Given the description of an element on the screen output the (x, y) to click on. 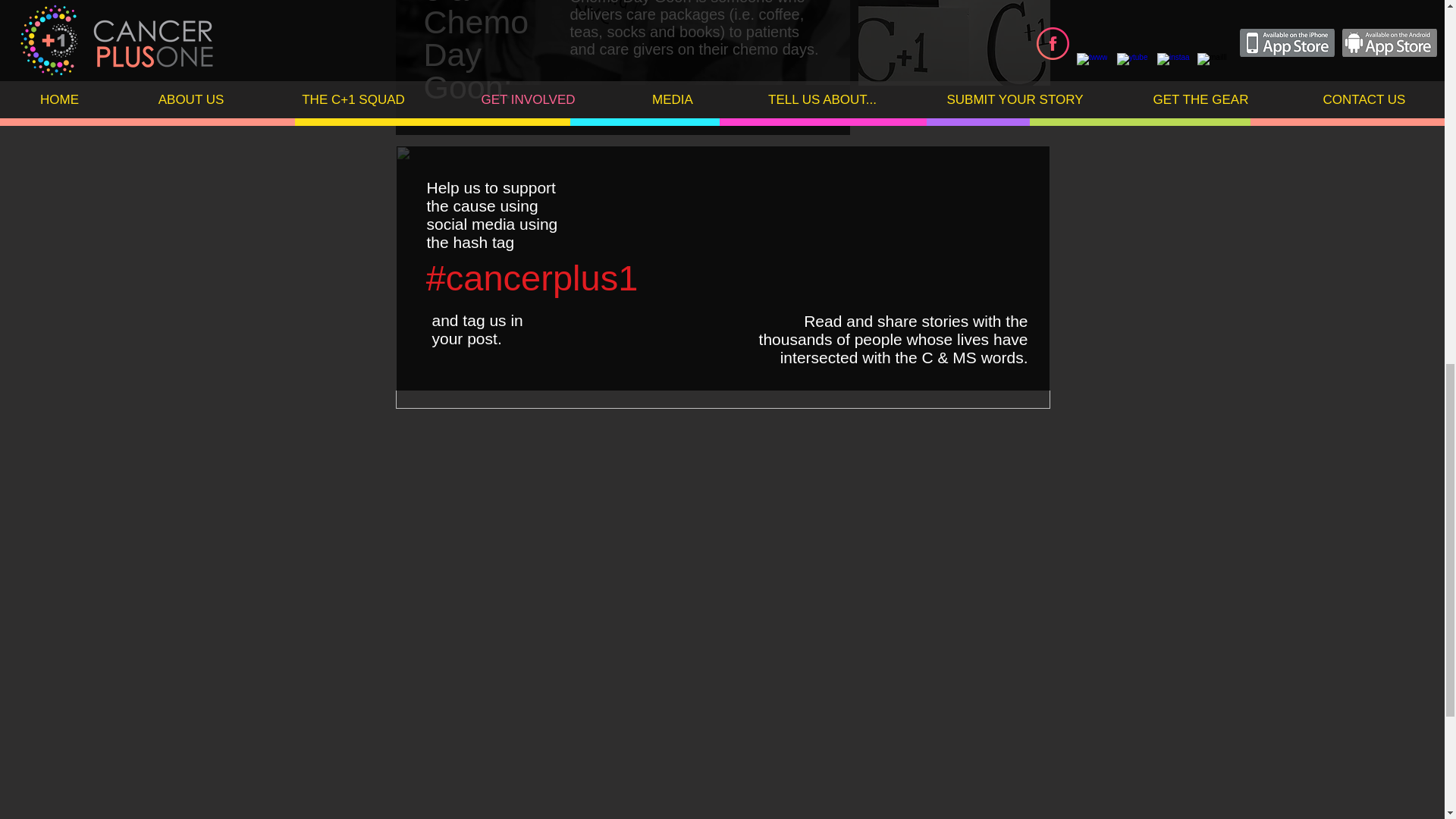
7.jpg (954, 42)
bernice2.jpg (623, 42)
